Given the description of an element on the screen output the (x, y) to click on. 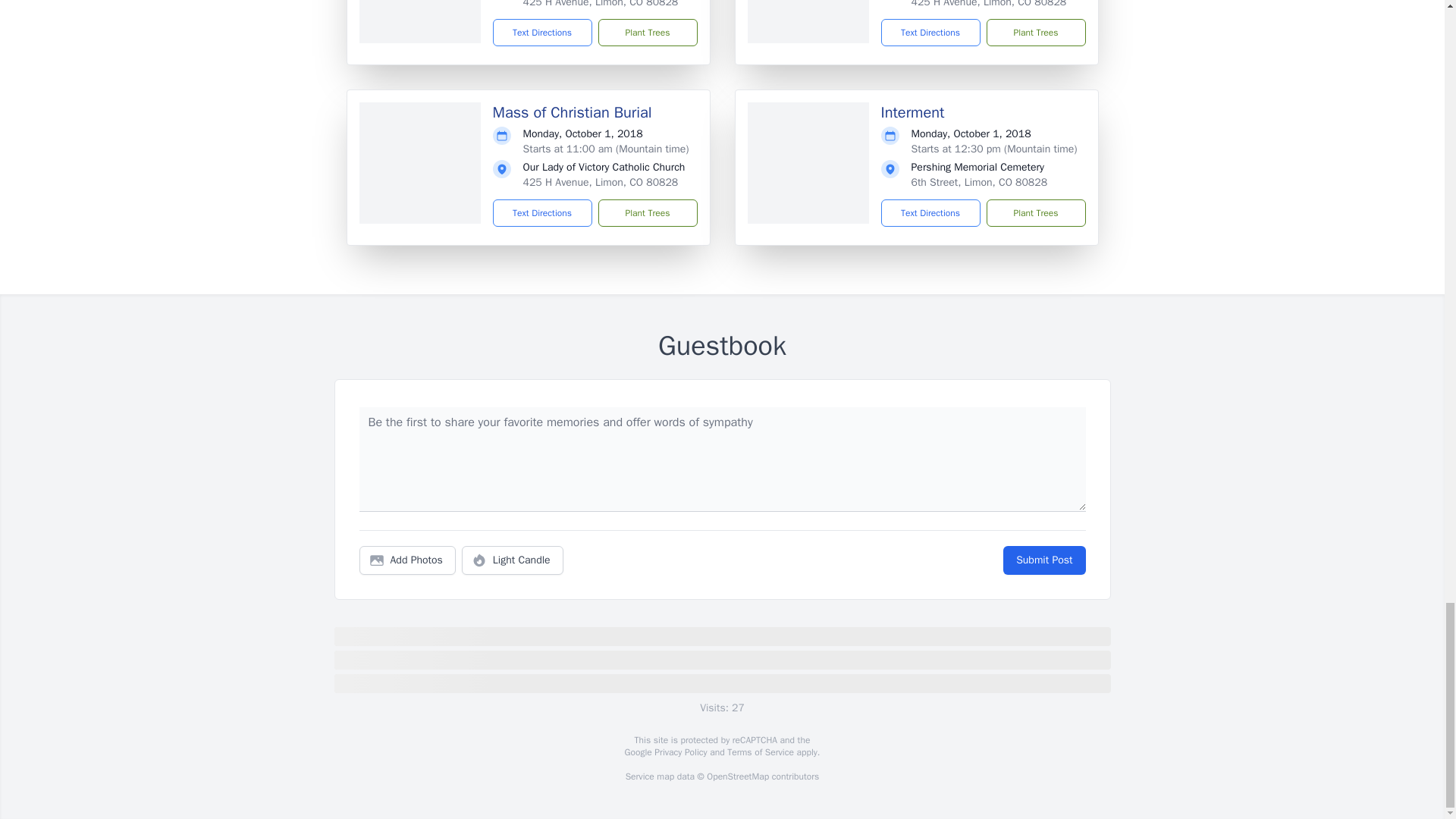
425 H Avenue, Limon, CO 80828 (989, 4)
Text Directions (542, 31)
Plant Trees (1034, 31)
Plant Trees (646, 31)
Text Directions (542, 212)
Plant Trees (646, 212)
425 H Avenue, Limon, CO 80828 (600, 4)
Text Directions (929, 212)
425 H Avenue, Limon, CO 80828 (600, 182)
Text Directions (929, 31)
